Given the description of an element on the screen output the (x, y) to click on. 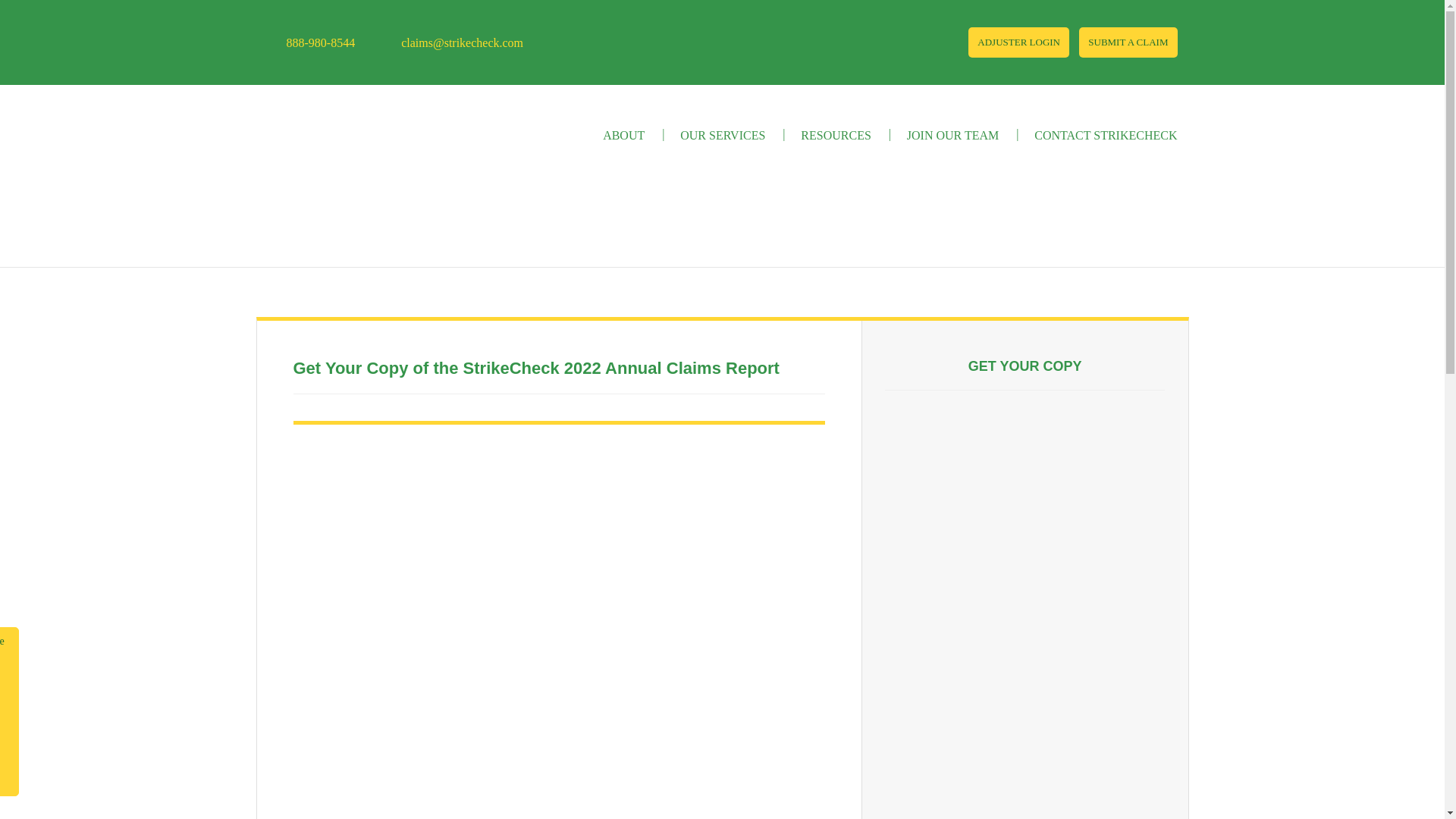
ABOUT (623, 134)
RESOURCES (835, 134)
ADJUSTER LOGIN (1018, 42)
OUR SERVICES (722, 134)
JOIN OUR TEAM (952, 134)
SUBMIT A CLAIM (1127, 42)
CONTACT STRIKECHECK (1104, 134)
